Given the description of an element on the screen output the (x, y) to click on. 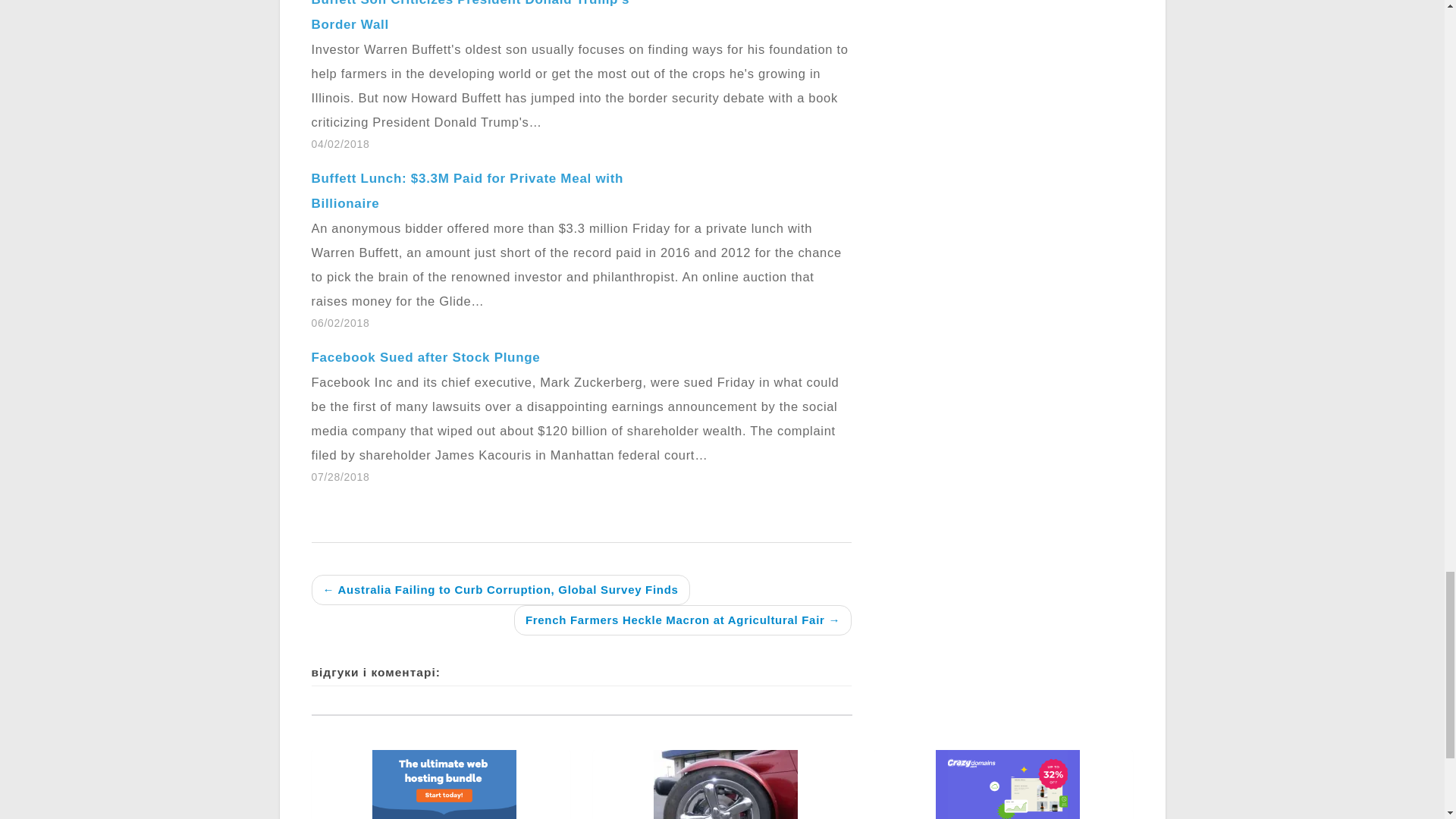
Facebook Sued after Stock Plunge (425, 357)
